Given the description of an element on the screen output the (x, y) to click on. 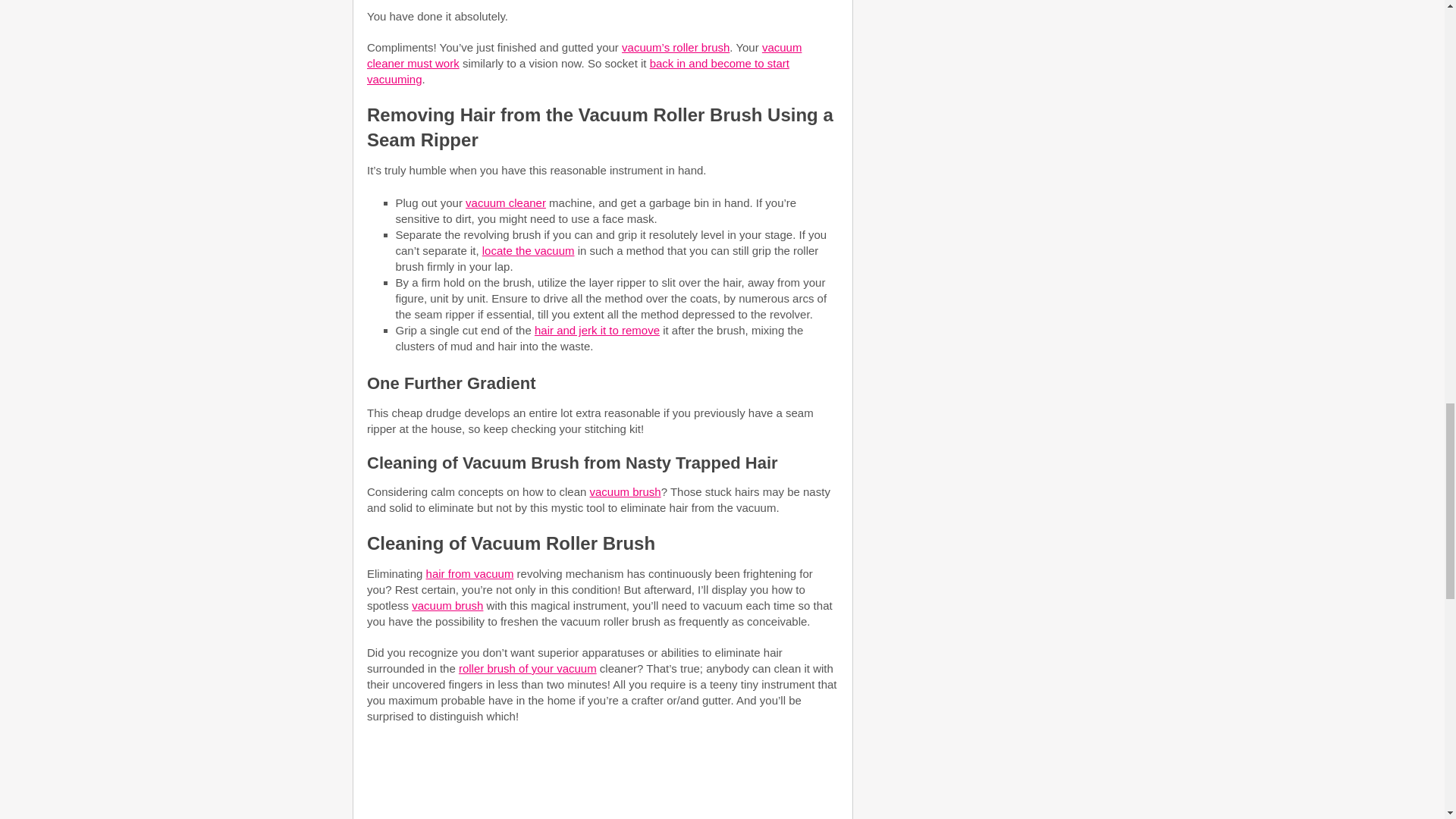
How to clean hair stuck under your vacuum (601, 779)
